Given the description of an element on the screen output the (x, y) to click on. 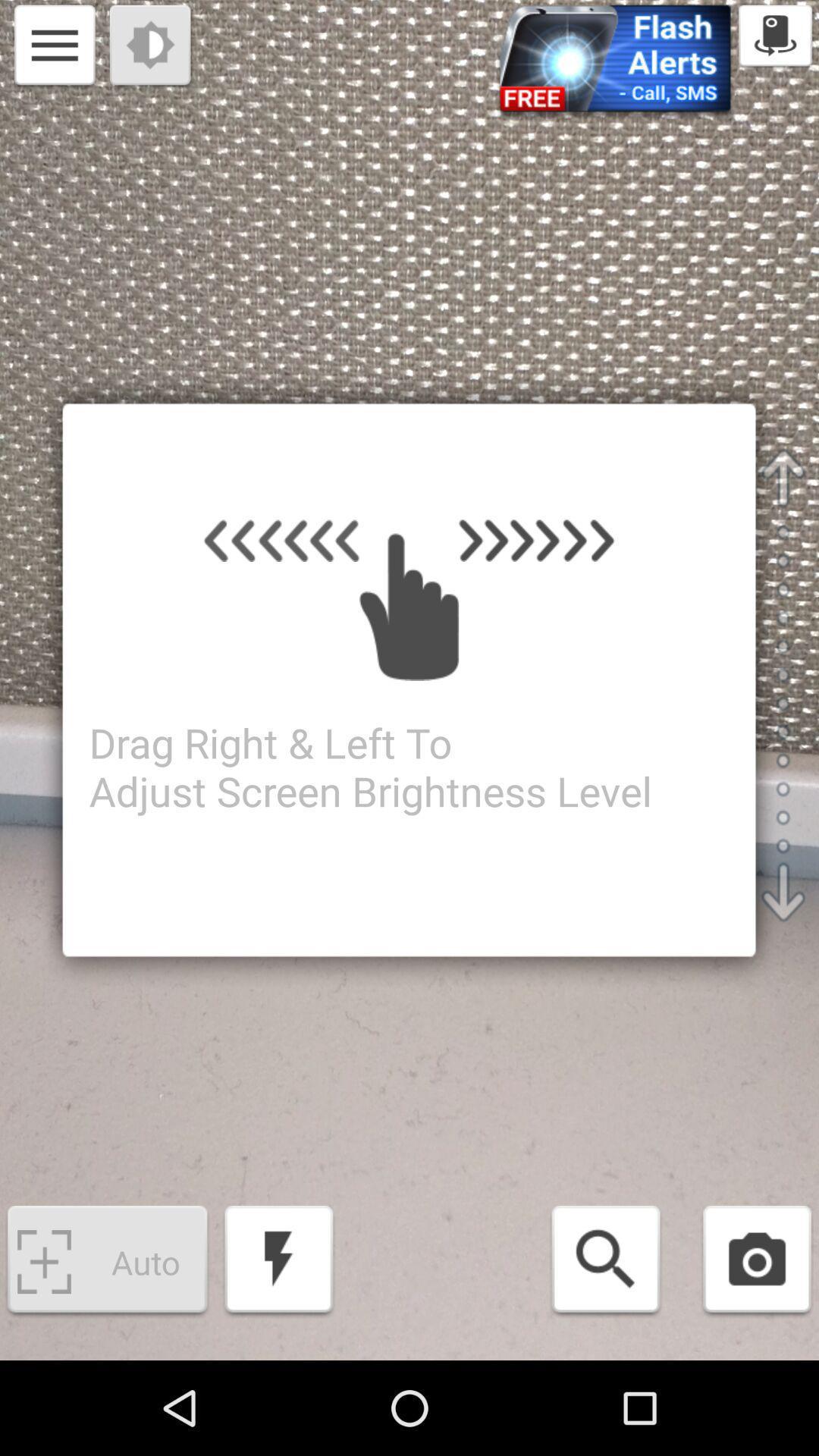
take a picture (756, 1261)
